Given the description of an element on the screen output the (x, y) to click on. 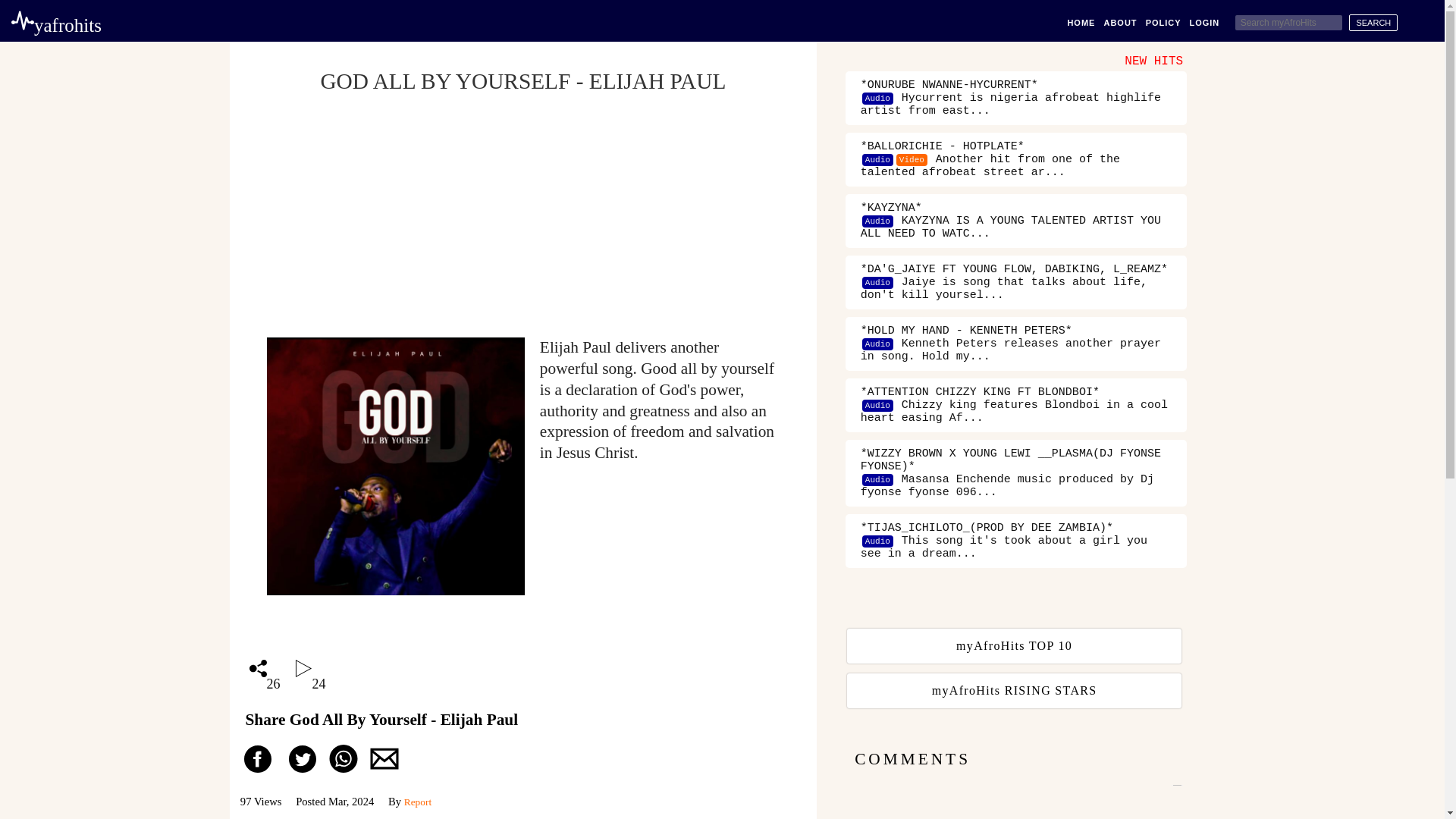
POLICY (1163, 22)
yafrohits (56, 25)
HOME (1081, 22)
ABOUT (1120, 22)
Advertisement (523, 223)
LOGIN (1204, 22)
myAfroHits TOP 10 (1016, 645)
SEARCH (1373, 22)
SEARCH (1373, 22)
myAfroHits RISING STARS (1016, 690)
Report (417, 801)
